Given the description of an element on the screen output the (x, y) to click on. 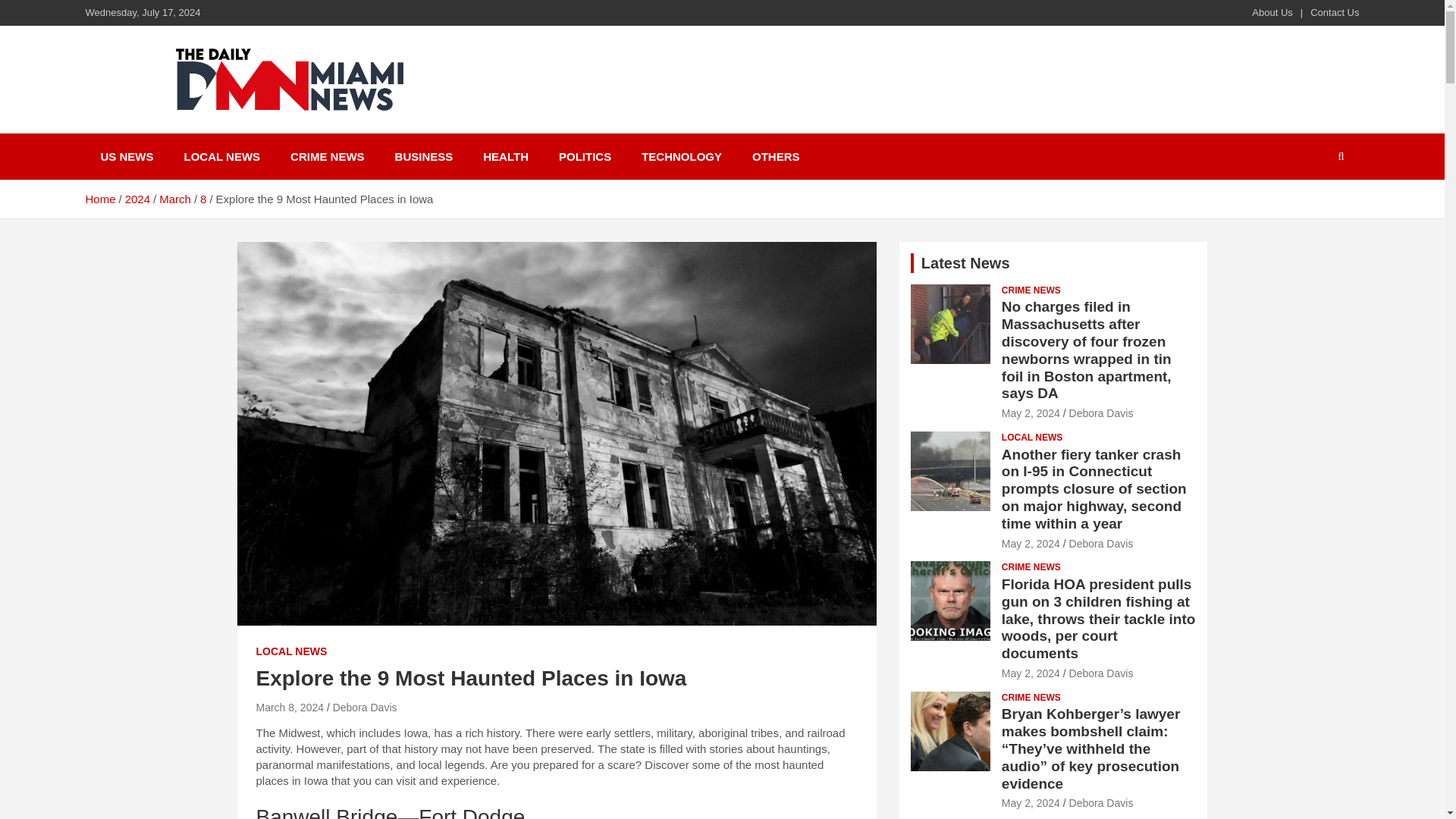
About Us (1272, 12)
LOCAL NEWS (291, 652)
HEALTH (505, 156)
LOCAL NEWS (222, 156)
Debora Davis (365, 707)
March (174, 198)
Latest News (965, 262)
The Daily Miami News (334, 130)
Contact Us (1334, 12)
Home (99, 198)
2024 (137, 198)
8 (203, 198)
Explore the 9 Most Haunted Places in Iowa (290, 707)
